Given the description of an element on the screen output the (x, y) to click on. 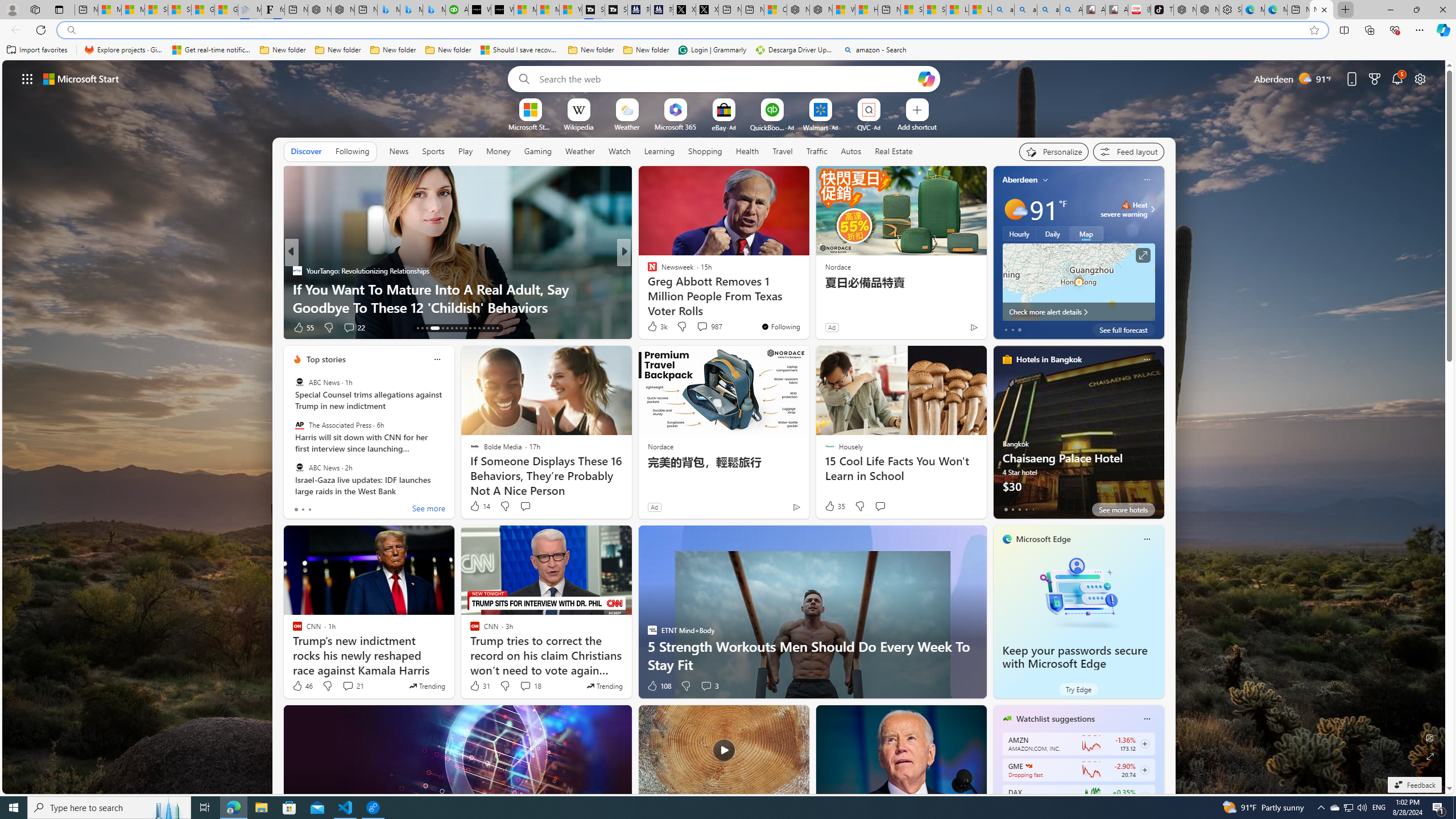
Microsoft Bing Travel - Shangri-La Hotel Bangkok (433, 9)
46 Like (301, 685)
Map (1085, 233)
GAMESTOP CORP. (1028, 765)
Class: follow-button  m (1144, 795)
View comments 3 Comment (709, 685)
tab-2 (1019, 509)
ABC News (299, 466)
View comments 22 Comment (707, 327)
Newsweek (647, 270)
